Given the description of an element on the screen output the (x, y) to click on. 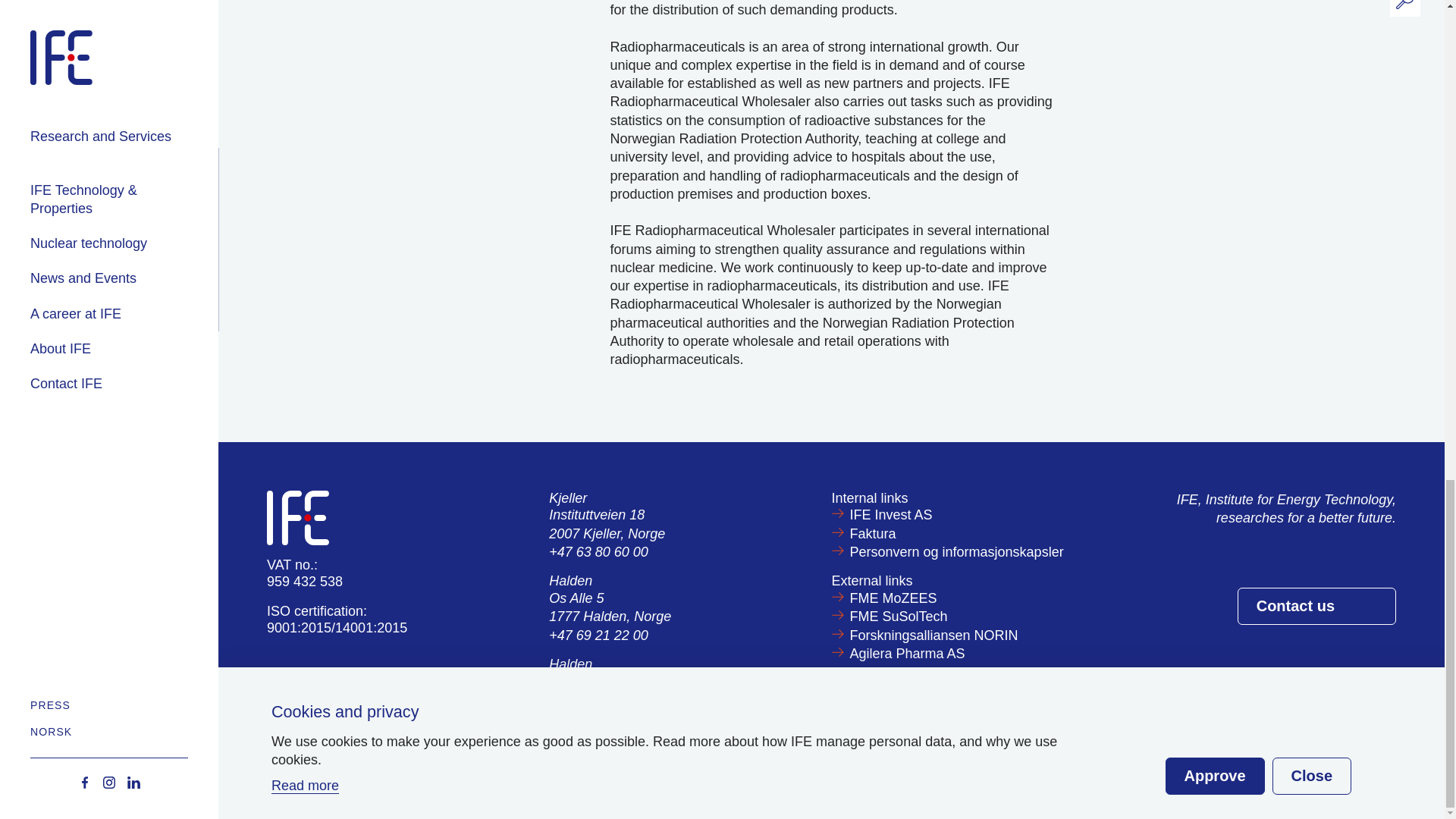
Go to Front Page (297, 516)
